Given the description of an element on the screen output the (x, y) to click on. 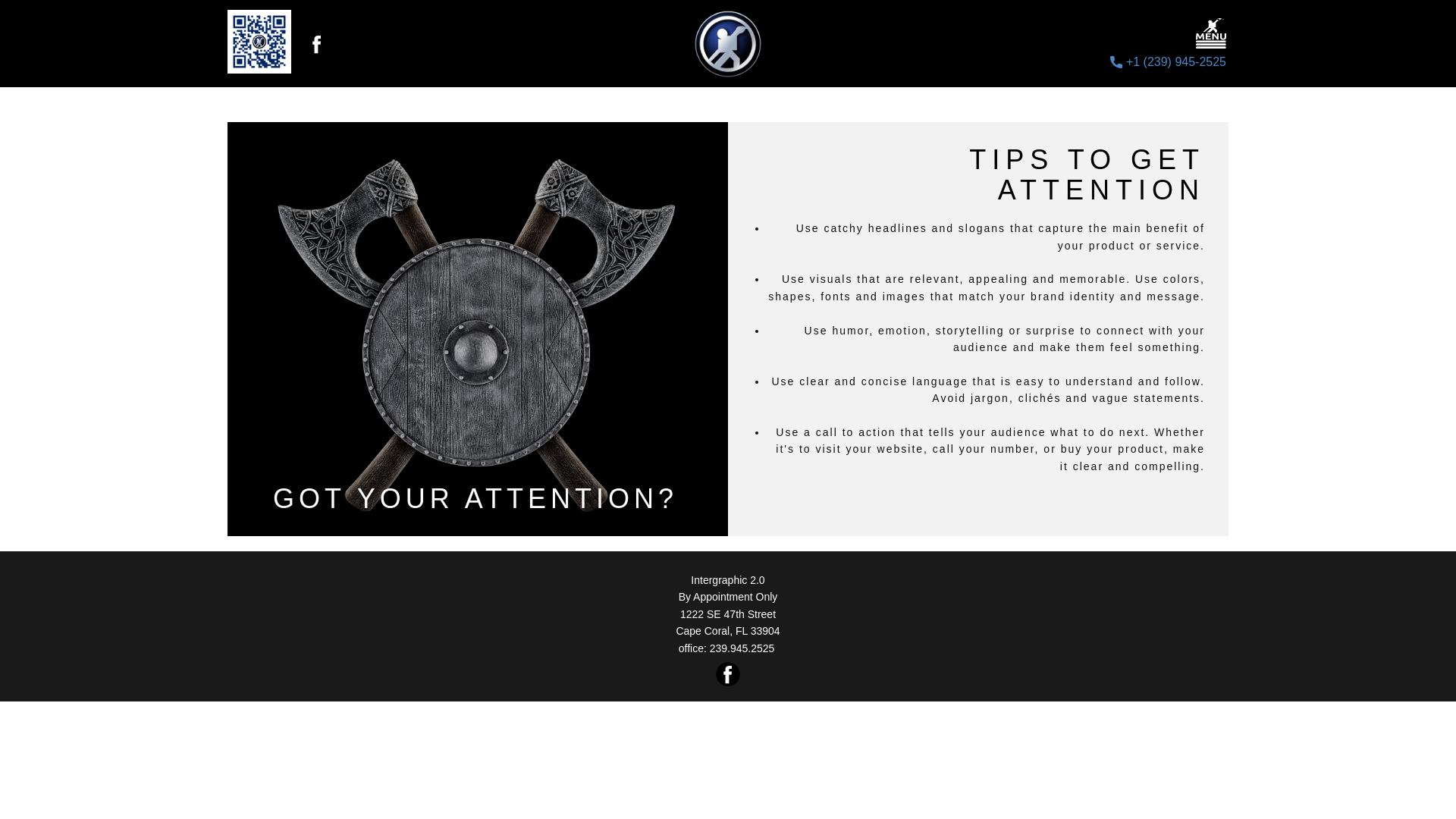
facebook (316, 43)
facebook (727, 673)
